Given the description of an element on the screen output the (x, y) to click on. 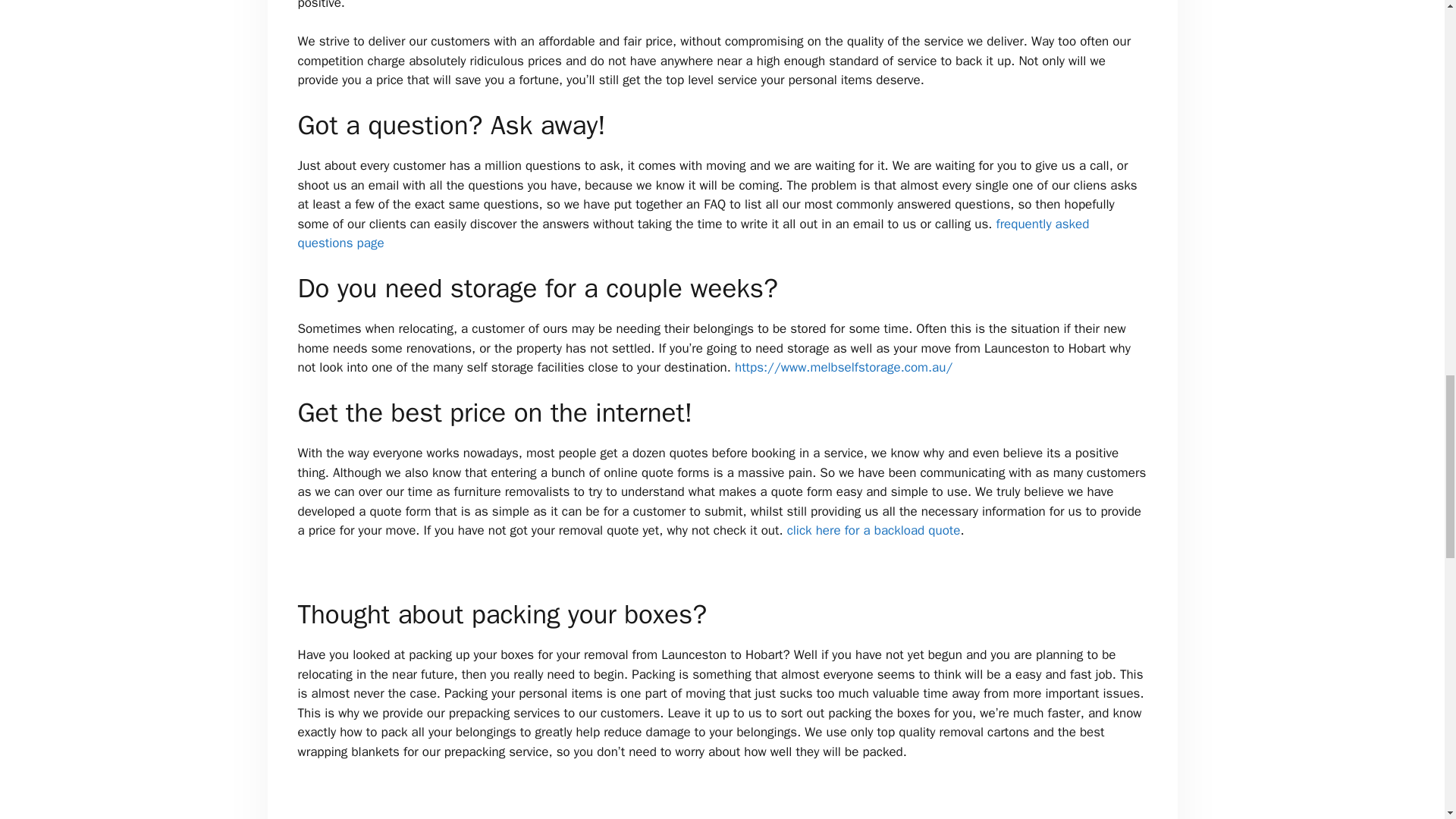
click here for a backload quote (873, 530)
Self Storage (843, 367)
frequently asked questions page (693, 233)
